Given the description of an element on the screen output the (x, y) to click on. 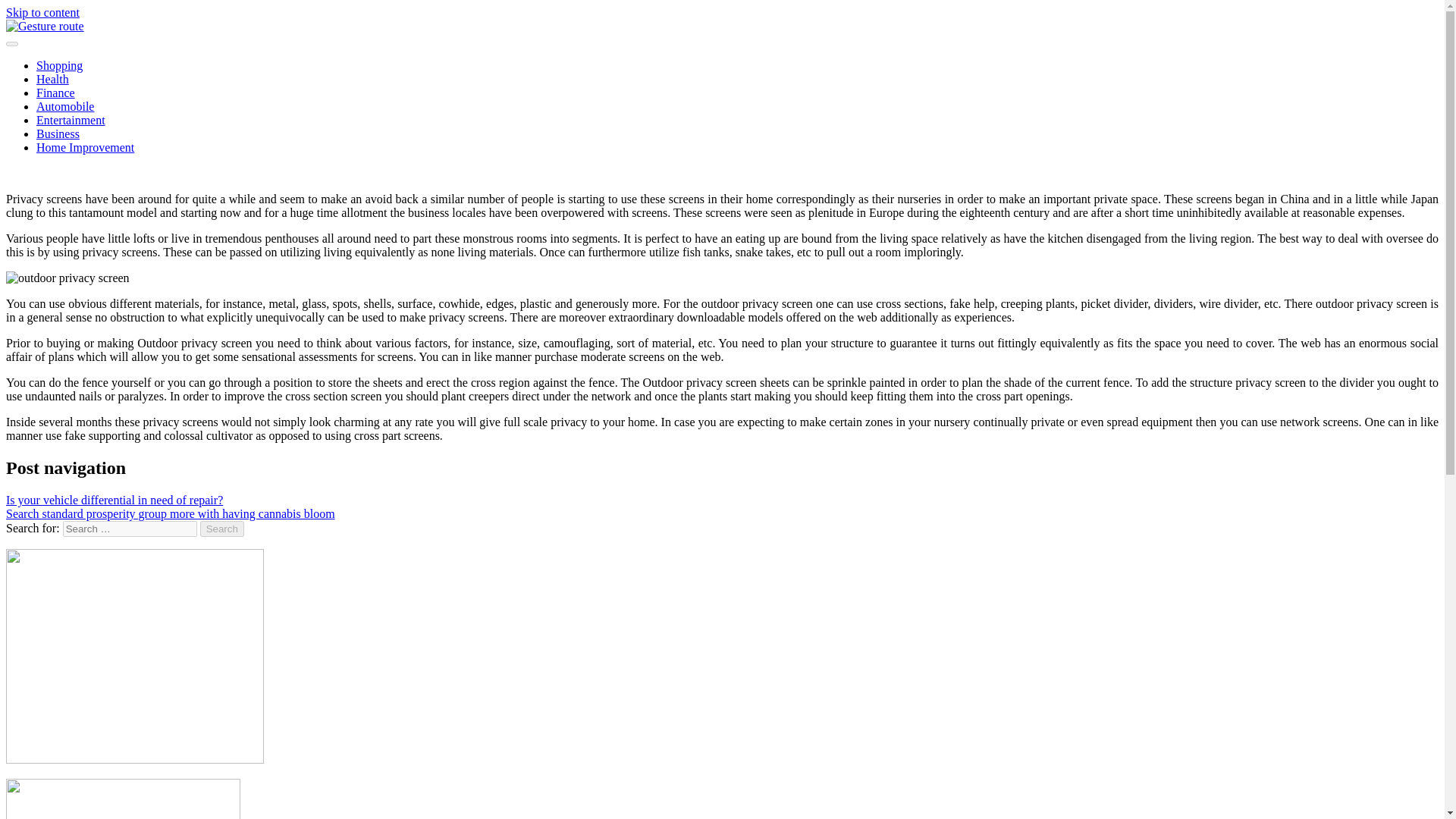
Shopping (59, 65)
Business (58, 133)
Is your vehicle differential in need of repair? (113, 499)
Entertainment (70, 119)
Health (52, 78)
Search (222, 528)
Automobile (65, 106)
Finance (55, 92)
Skip to content (42, 11)
Home Improvement (84, 146)
Search (222, 528)
Search (222, 528)
